Given the description of an element on the screen output the (x, y) to click on. 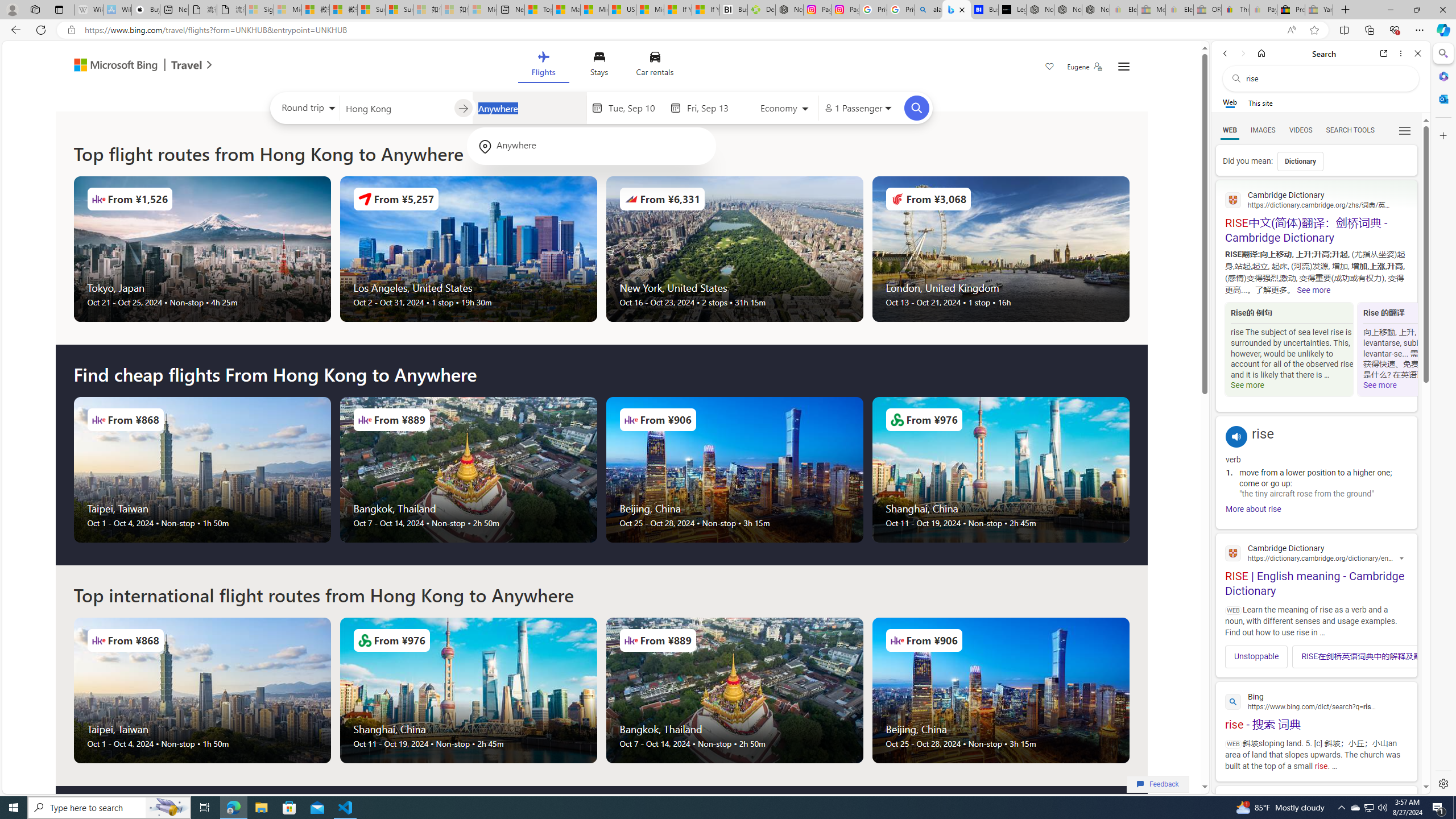
Class: msft-bing-logo msft-bing-logo-desktop (112, 64)
Microsoft Bing Travel - Flights (956, 9)
Select class of service (784, 109)
